Given the description of an element on the screen output the (x, y) to click on. 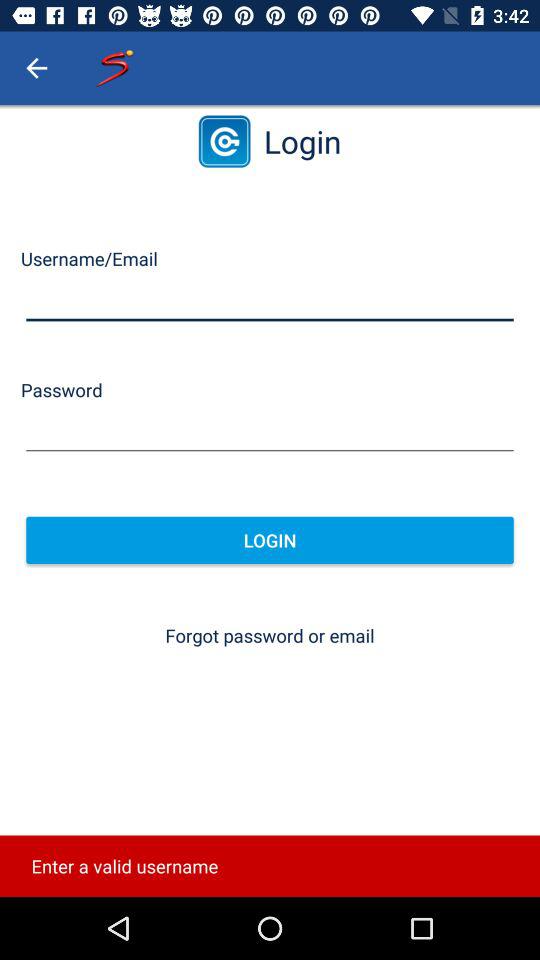
turn on item below login item (269, 635)
